Given the description of an element on the screen output the (x, y) to click on. 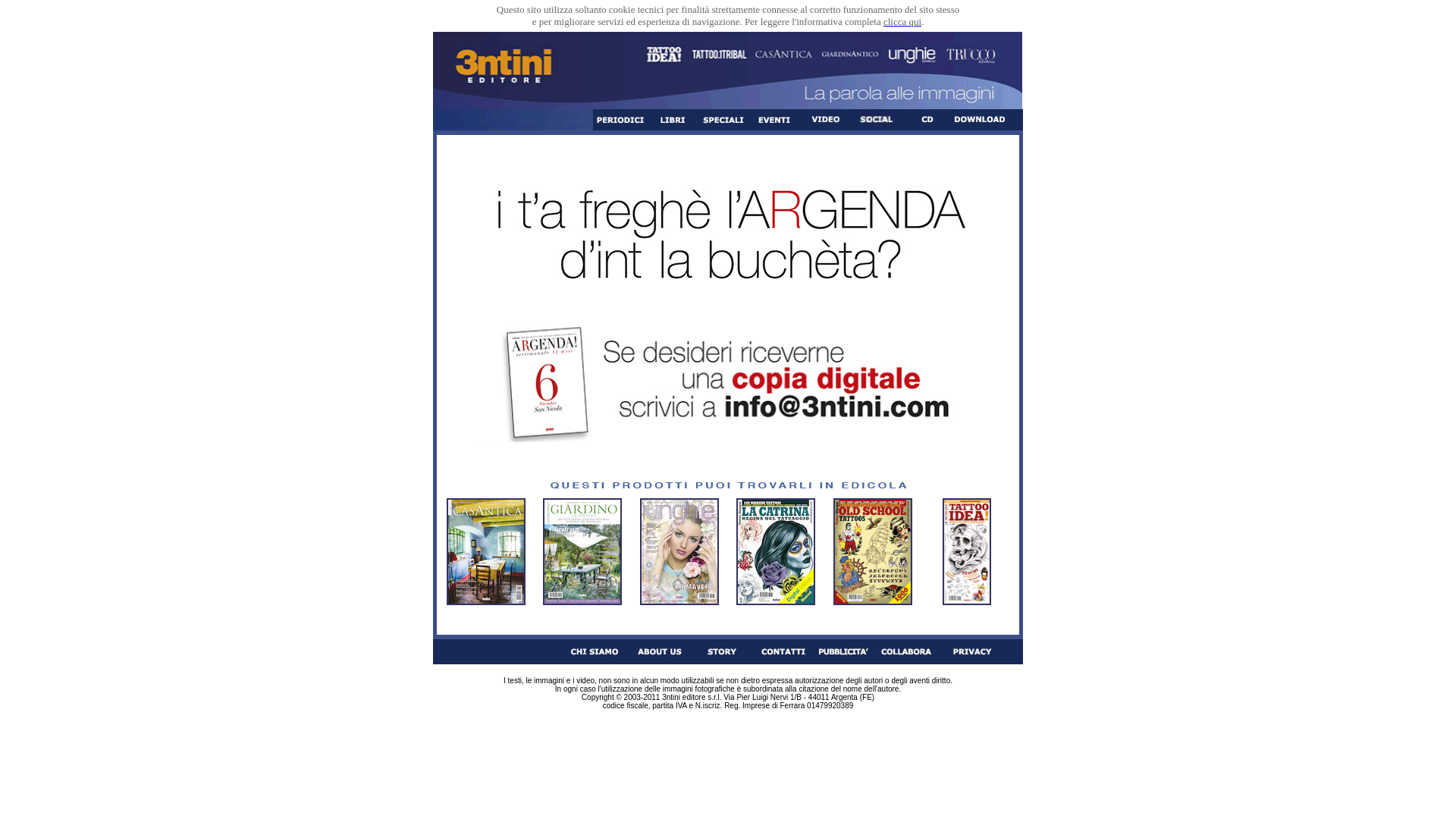
tattoo flash digital edition Element type: hover (775, 551)
clicca qui Element type: text (902, 21)
disegni tatuaggi Element type: hover (872, 551)
IdeaTattoo: Rivista su Tattoo e Tatuaggi Element type: hover (966, 551)
Unghie e bellezza rivista di decorazione unghie Element type: hover (679, 551)
